Given the description of an element on the screen output the (x, y) to click on. 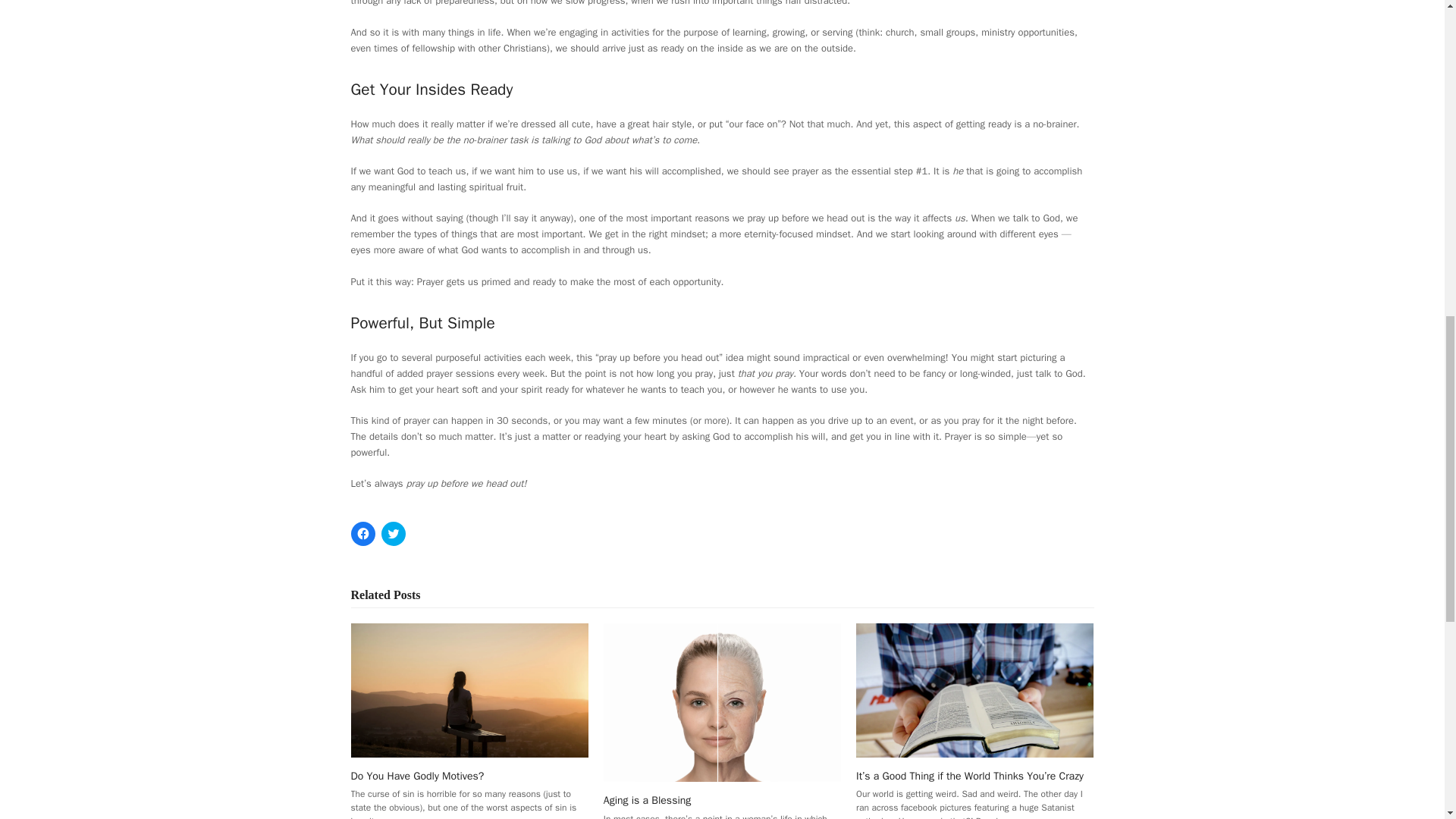
Click to share on Facebook (362, 533)
Click to share on Twitter (392, 533)
Do You Have Godly Motives? (469, 689)
Aging is a Blessing (722, 701)
